Given the description of an element on the screen output the (x, y) to click on. 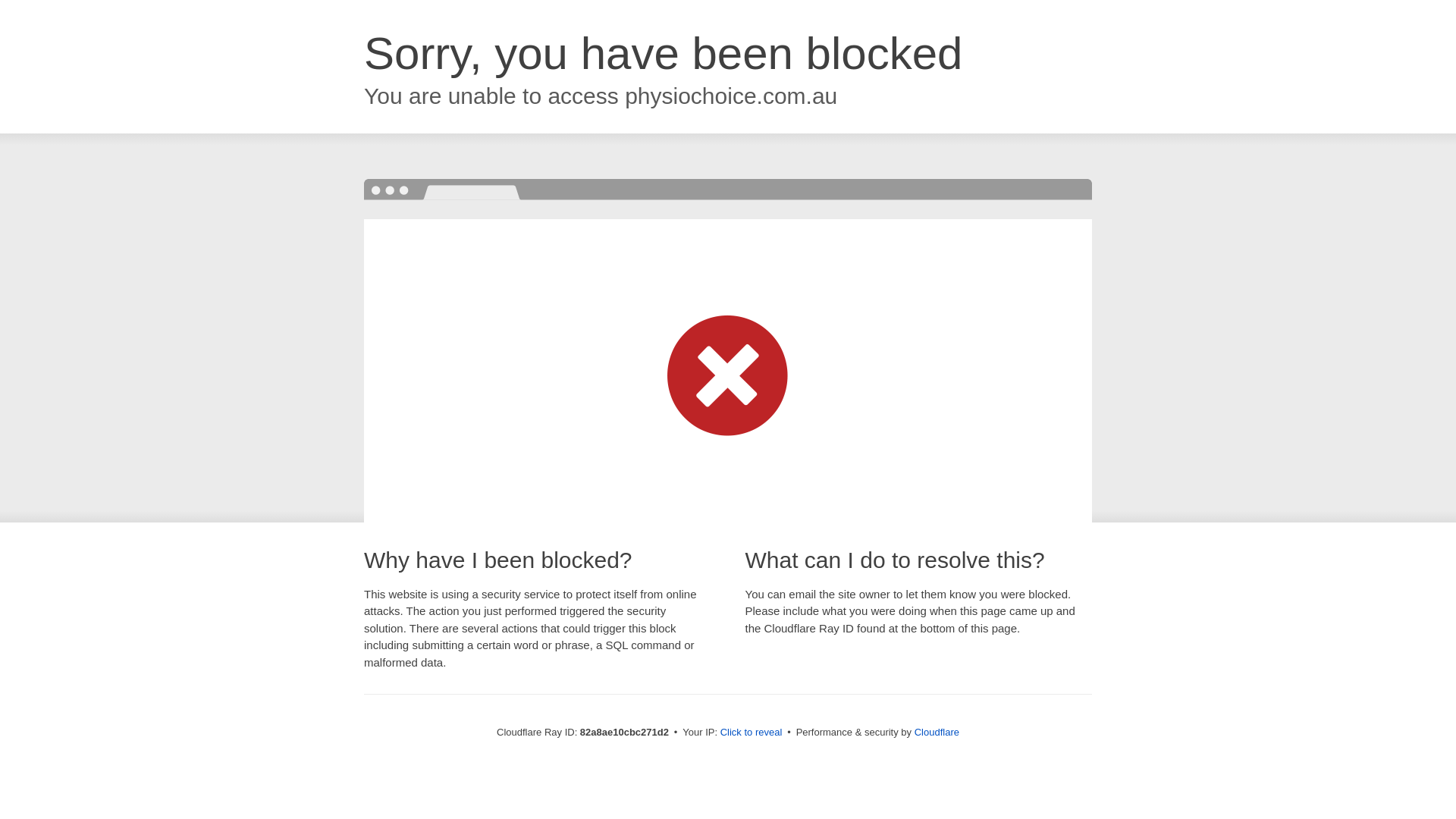
Click to reveal Element type: text (751, 732)
Cloudflare Element type: text (936, 731)
